Given the description of an element on the screen output the (x, y) to click on. 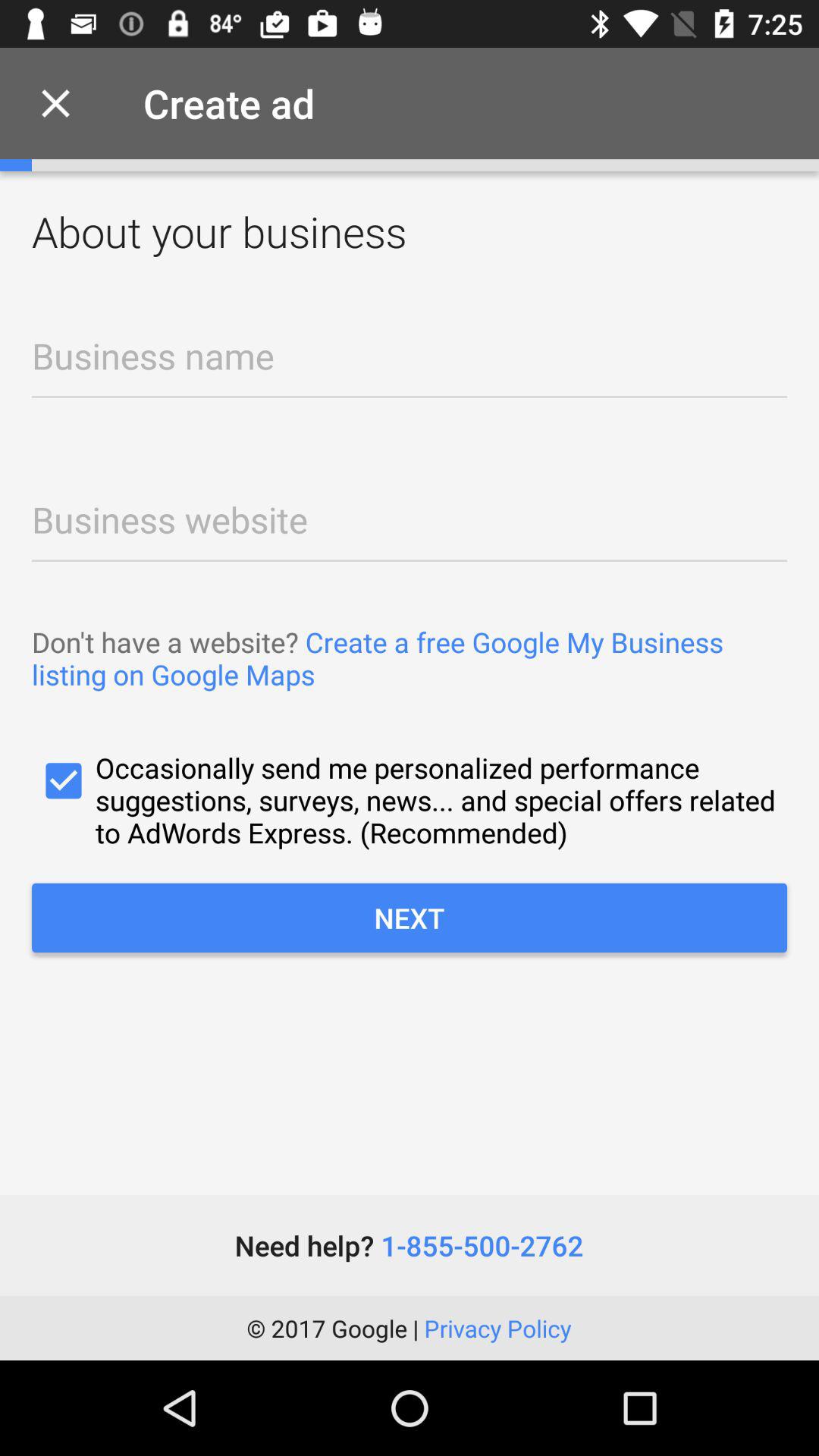
launch item next to create ad item (55, 103)
